Given the description of an element on the screen output the (x, y) to click on. 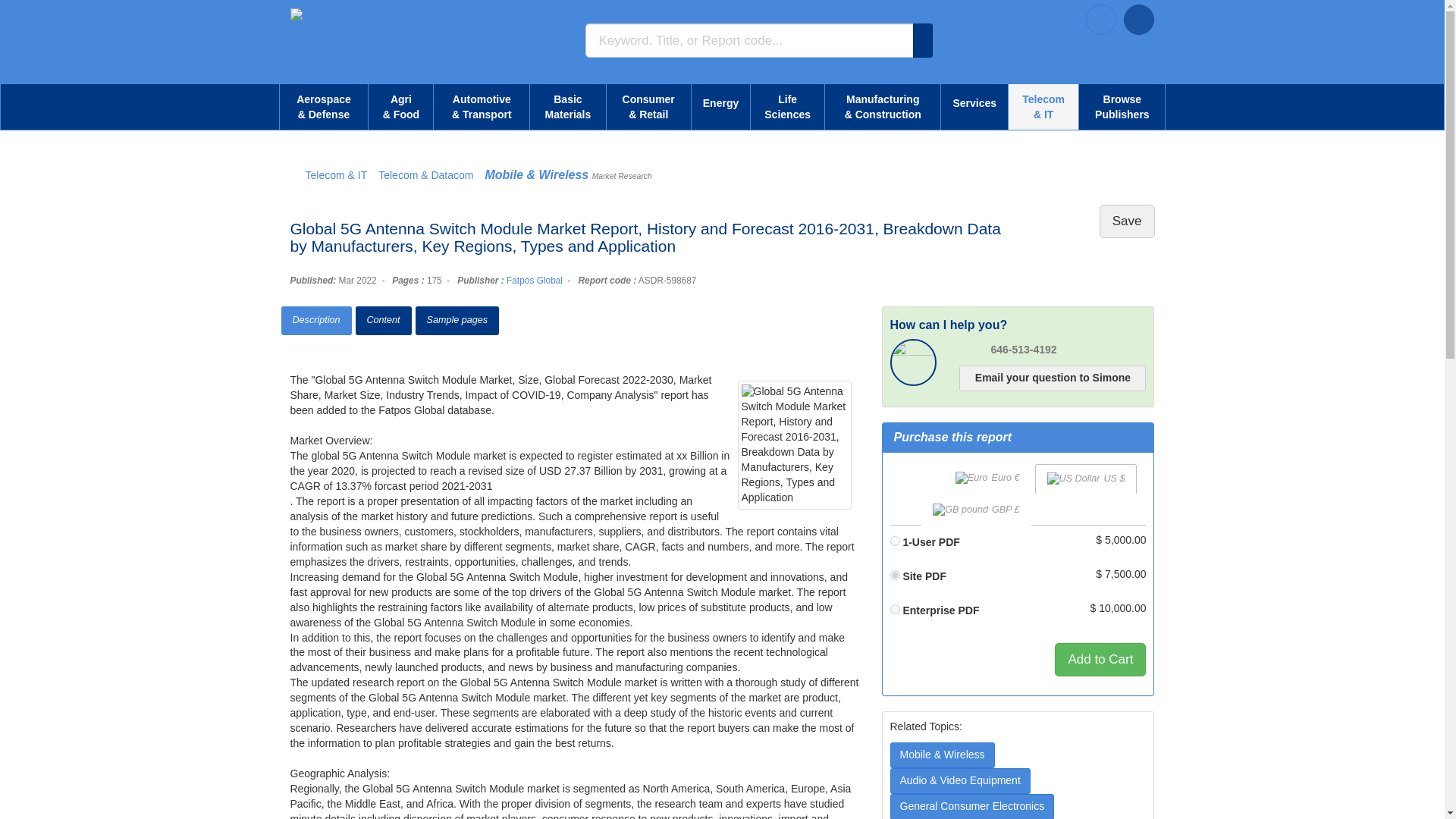
Change currency to US Dollar (1086, 478)
Change currency to GB Pound (975, 510)
Change currency to Euro (986, 478)
xprice1 (894, 541)
xprice3 (894, 609)
xprice2 (894, 574)
